Given the description of an element on the screen output the (x, y) to click on. 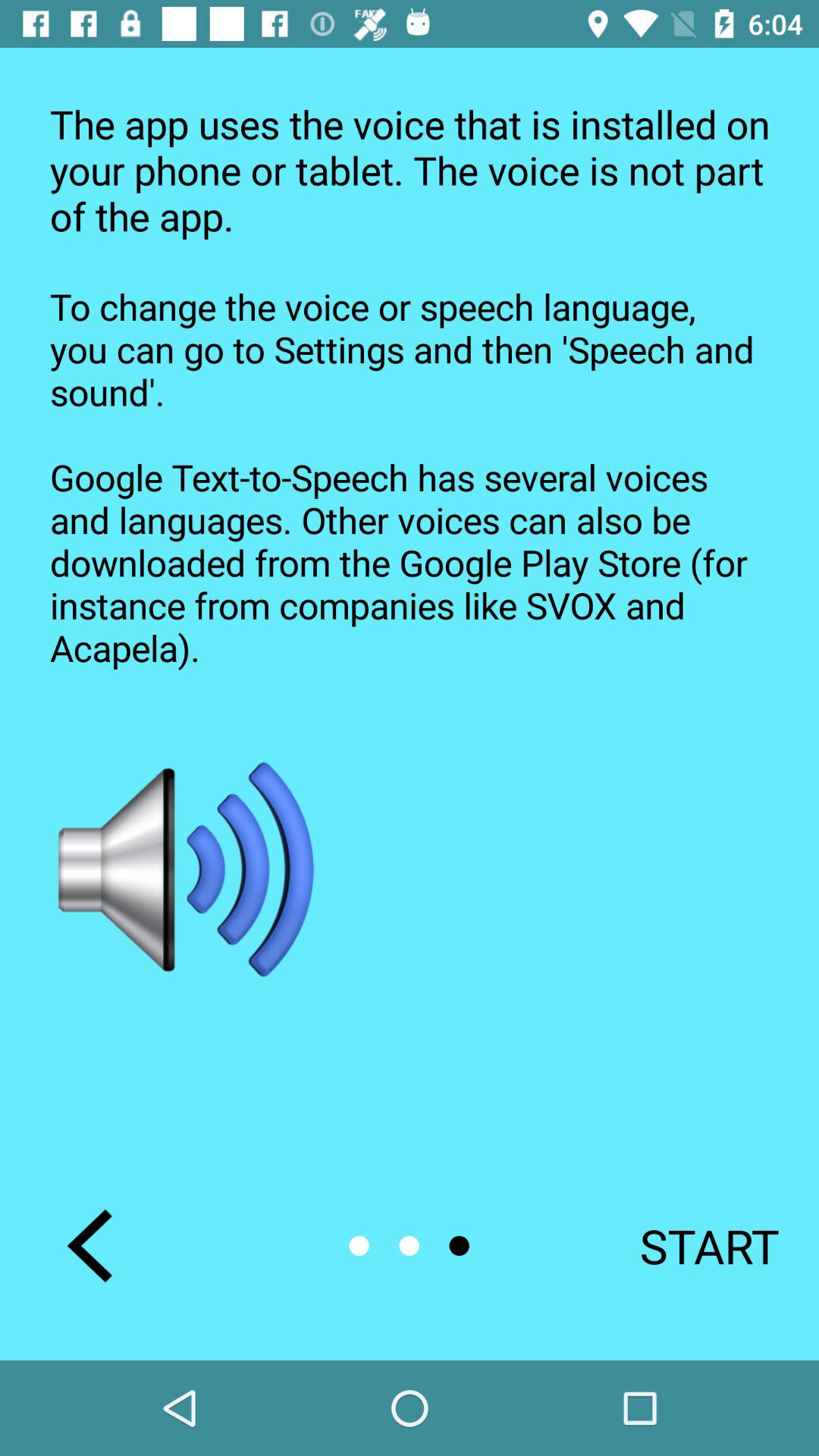
open icon below to change the item (689, 1245)
